Given the description of an element on the screen output the (x, y) to click on. 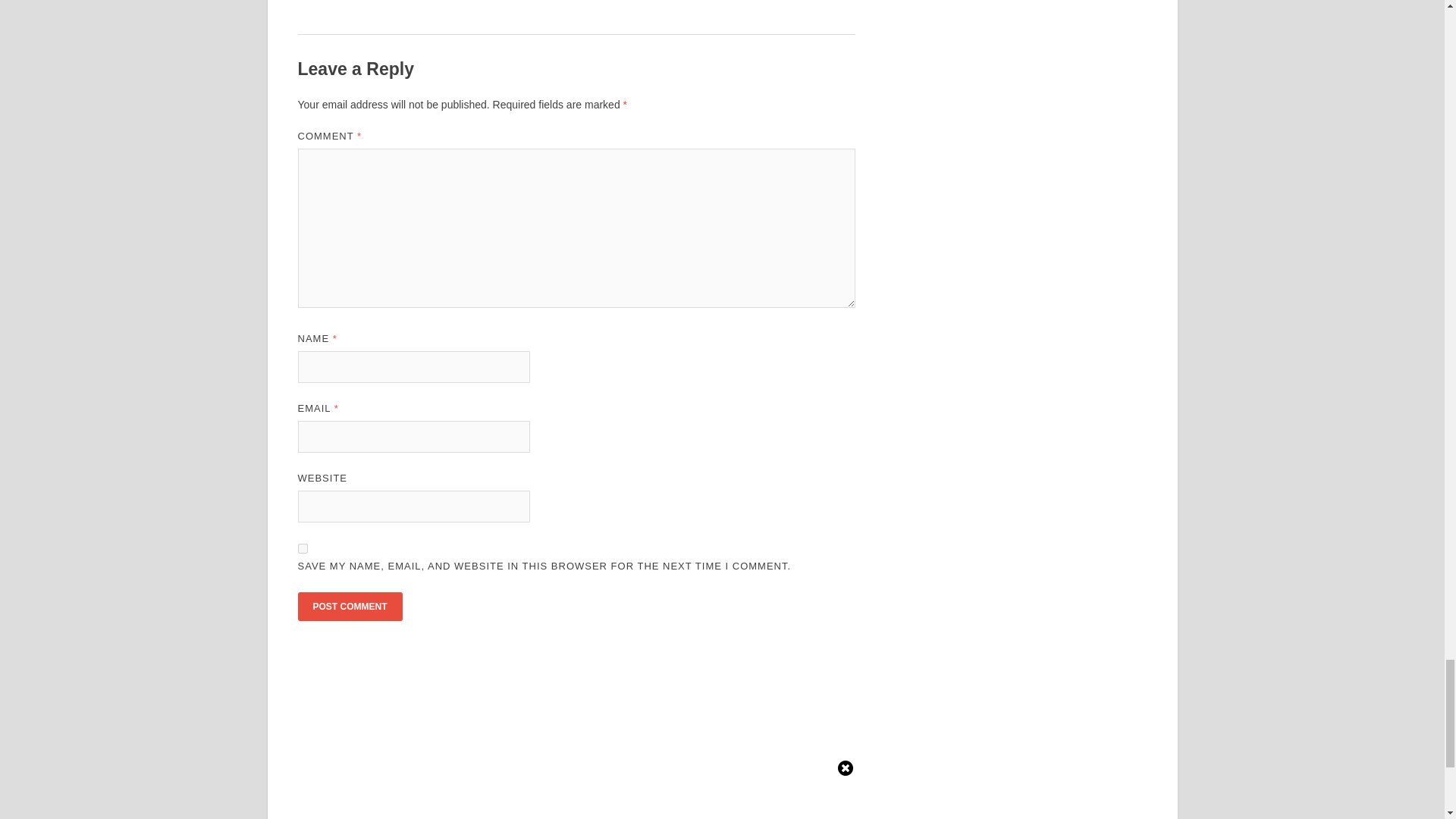
yes (302, 548)
Post Comment (349, 606)
Post Comment (349, 606)
